Given the description of an element on the screen output the (x, y) to click on. 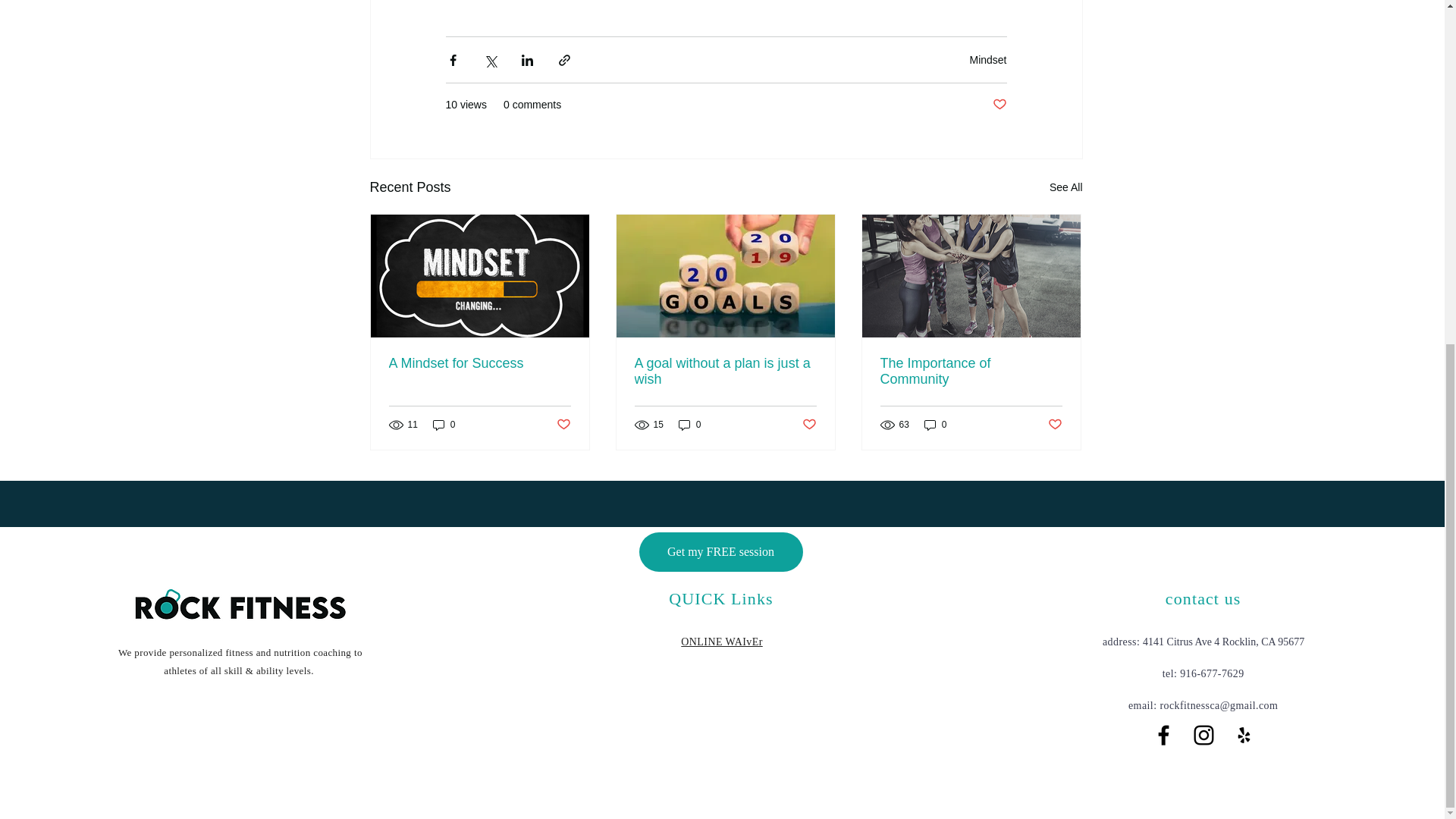
0 (443, 424)
Post not marked as liked (1055, 424)
Post not marked as liked (563, 424)
A Mindset for Success (479, 363)
Post not marked as liked (998, 105)
The Importance of Community (970, 371)
Mindset (987, 60)
0 (690, 424)
Post not marked as liked (809, 424)
See All (1066, 187)
